Given the description of an element on the screen output the (x, y) to click on. 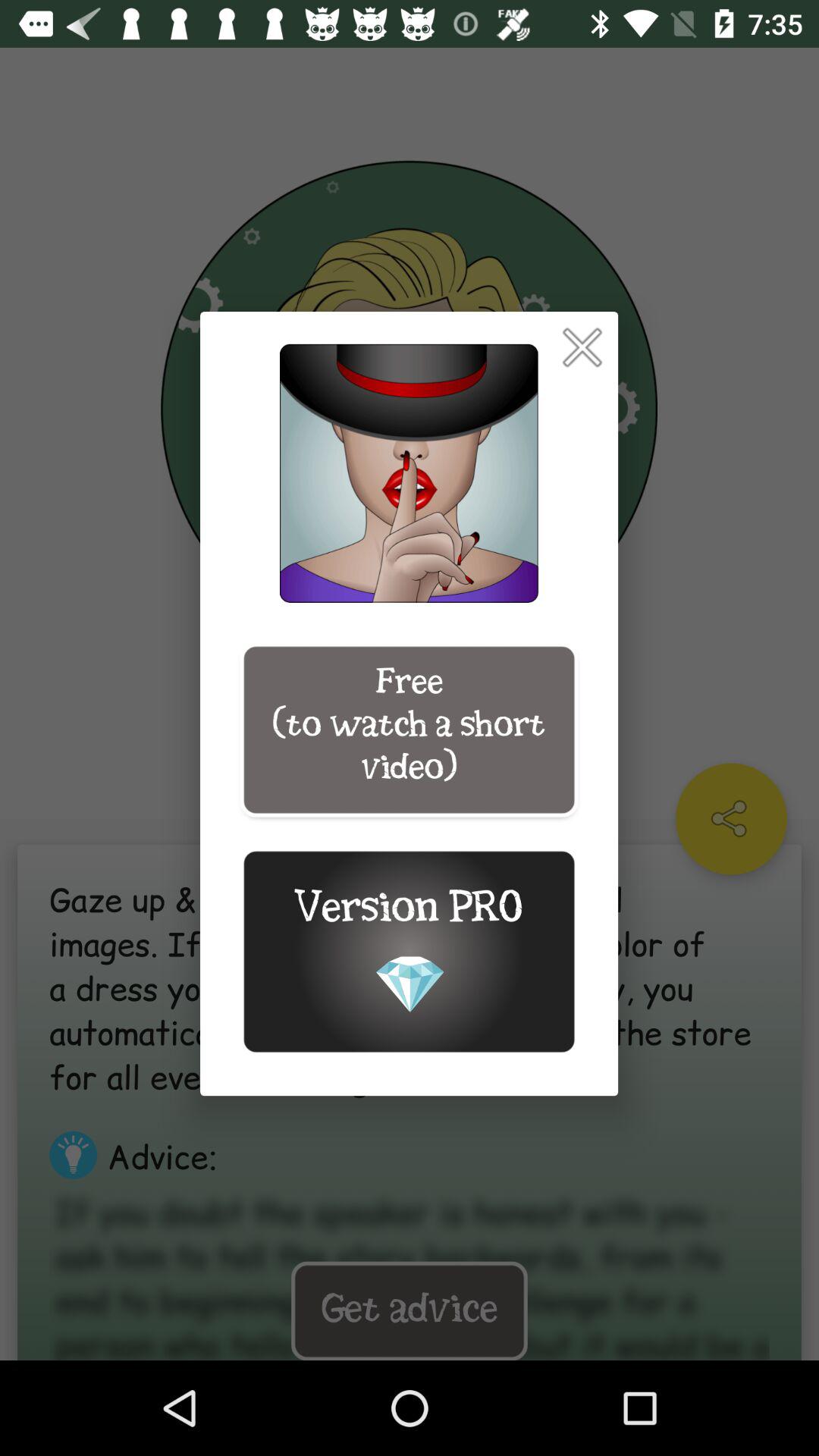
close pop up (582, 347)
